Given the description of an element on the screen output the (x, y) to click on. 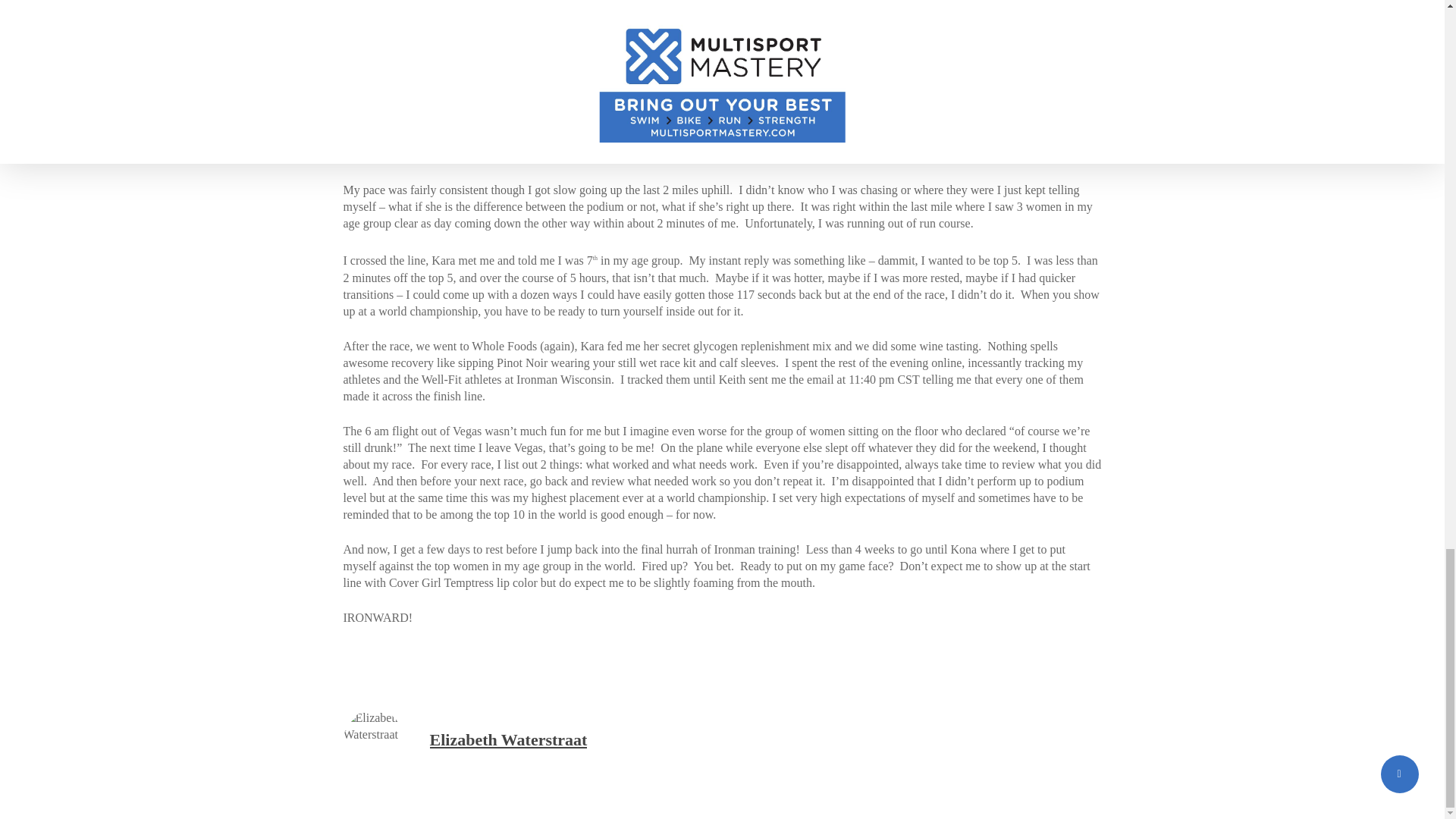
Elizabeth Waterstraat (507, 739)
